Given the description of an element on the screen output the (x, y) to click on. 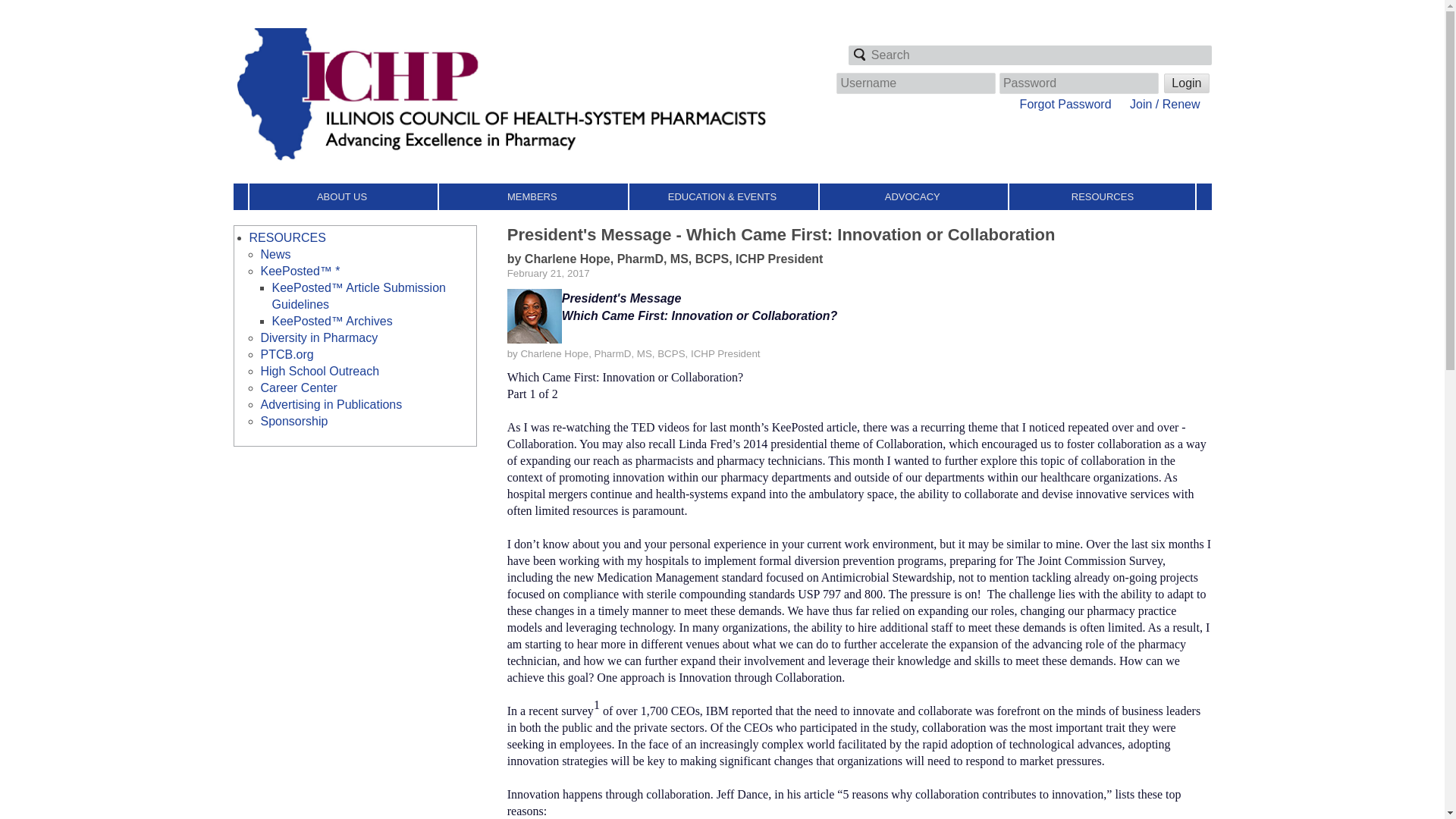
MEMBERS (531, 196)
Login (1185, 83)
Login (1185, 83)
ABOUT US (341, 196)
Forgot Password (1066, 103)
